Given the description of an element on the screen output the (x, y) to click on. 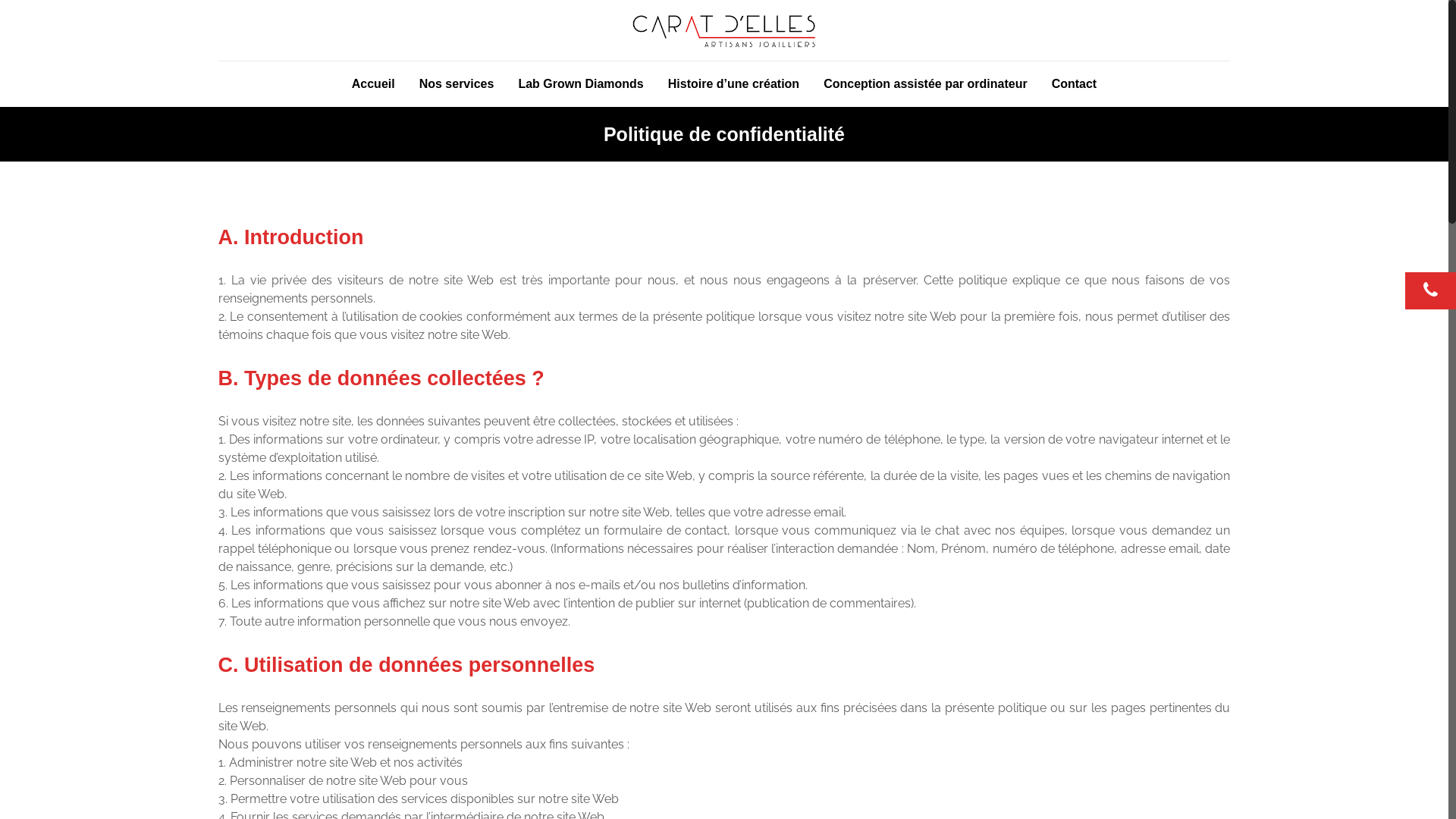
Nos services Element type: text (456, 83)
Lab Grown Diamonds Element type: text (580, 83)
Accueil Element type: text (373, 83)
Contact Element type: text (1074, 83)
